Given the description of an element on the screen output the (x, y) to click on. 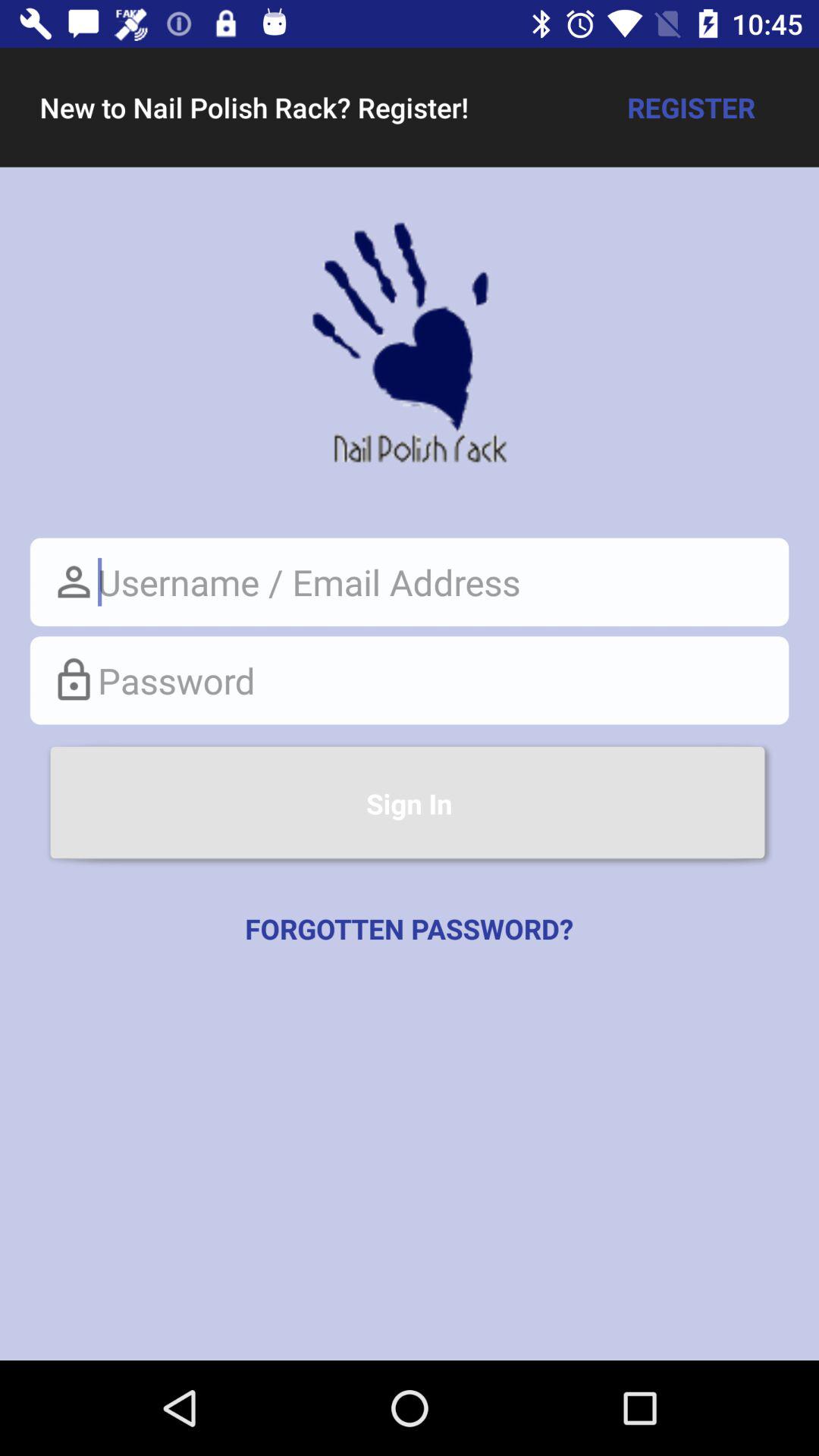
enter username (409, 582)
